Given the description of an element on the screen output the (x, y) to click on. 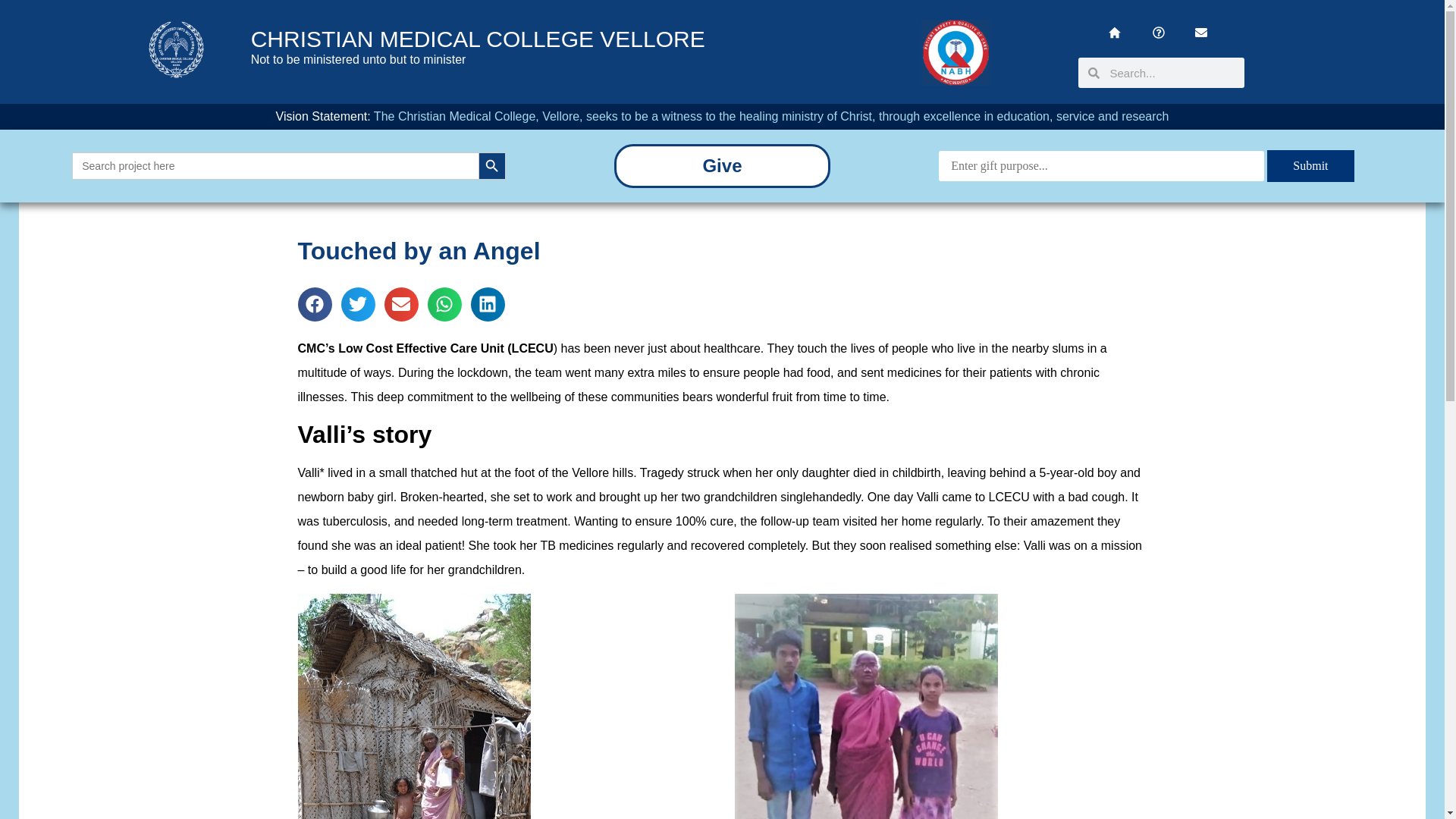
Submit (1310, 165)
Give (721, 165)
Search Button (492, 165)
